Given the description of an element on the screen output the (x, y) to click on. 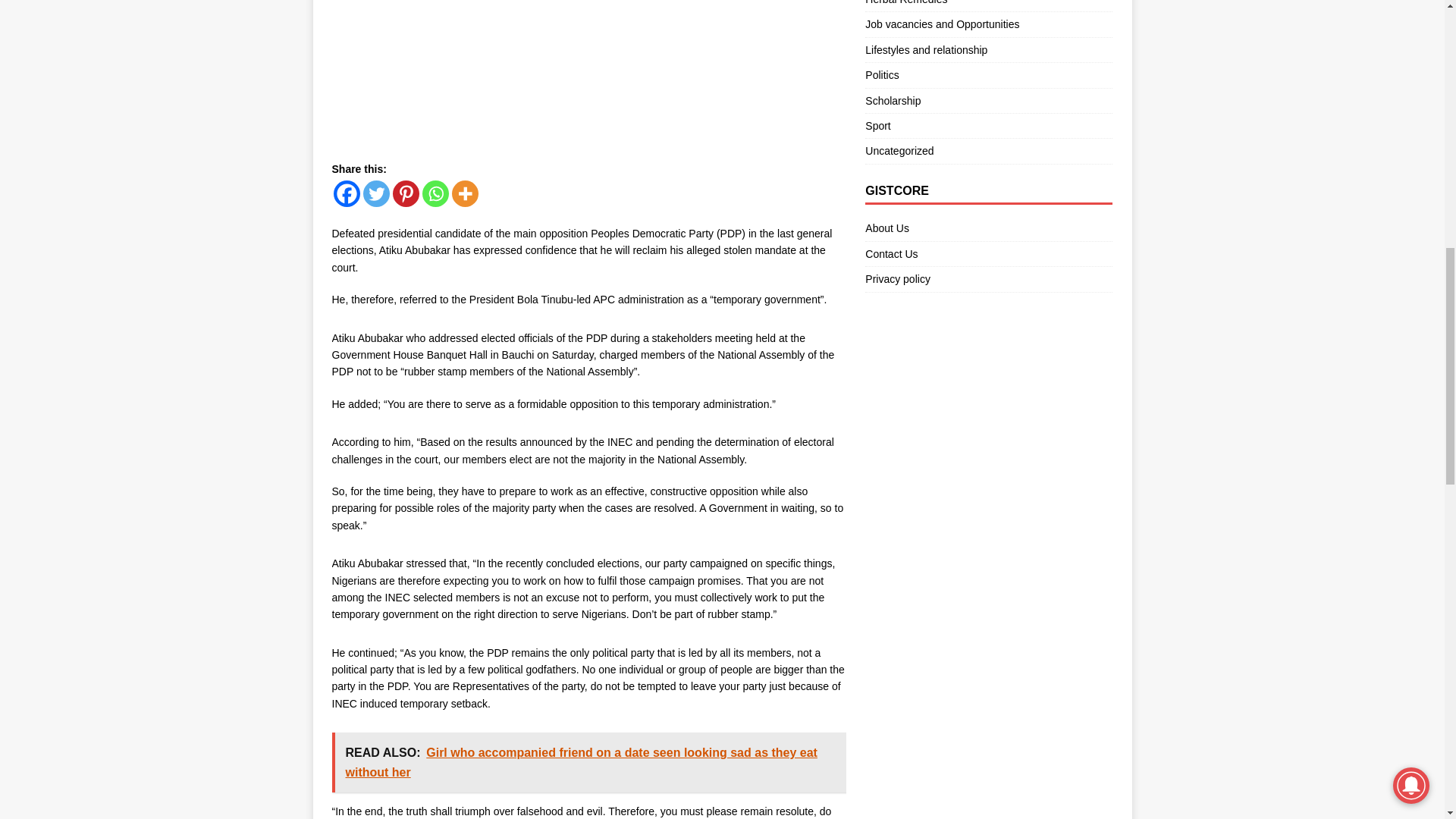
Whatsapp (435, 193)
Advertisement (588, 77)
More (465, 193)
Facebook (346, 193)
Twitter (375, 193)
Pinterest (406, 193)
